Given the description of an element on the screen output the (x, y) to click on. 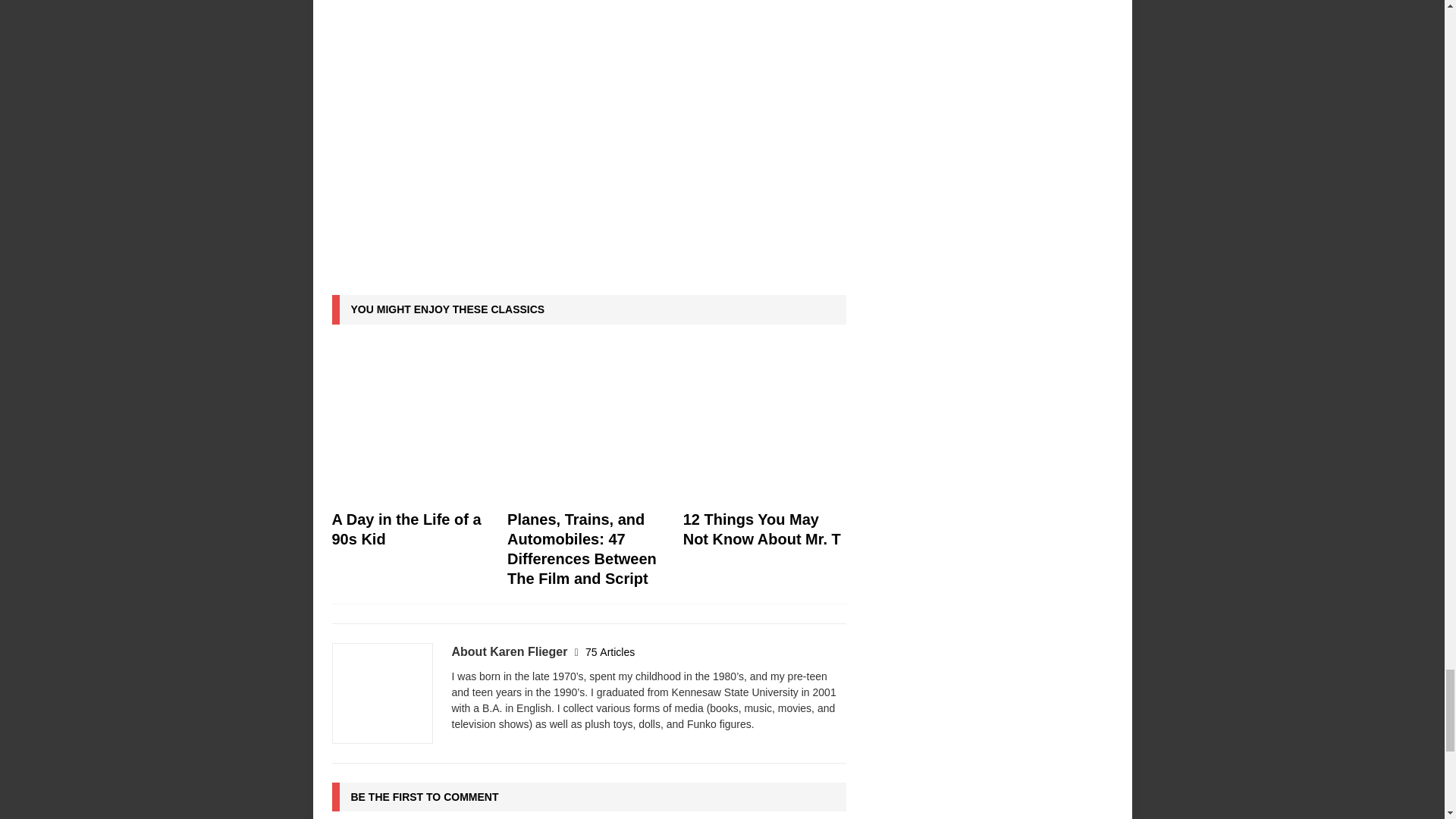
A Day in the Life of a 90s Kid (413, 420)
12 Things You May Not Know About Mr. T (761, 529)
A Day in the Life of a 90s Kid (406, 529)
More articles written by Karen Flieger' (609, 652)
12 Things You May Not Know About Mr. T (763, 420)
